Given the description of an element on the screen output the (x, y) to click on. 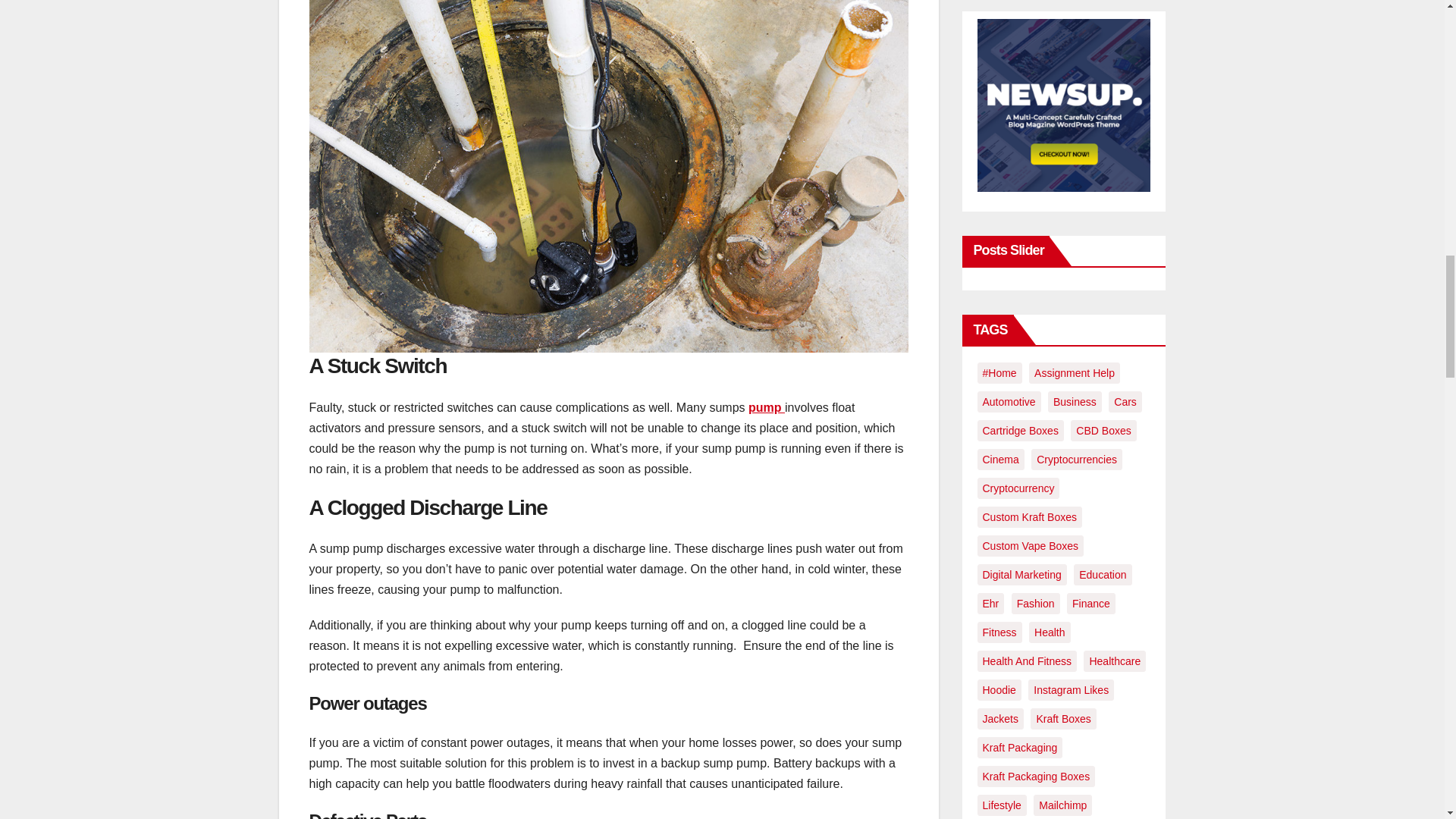
pump (766, 407)
